Given the description of an element on the screen output the (x, y) to click on. 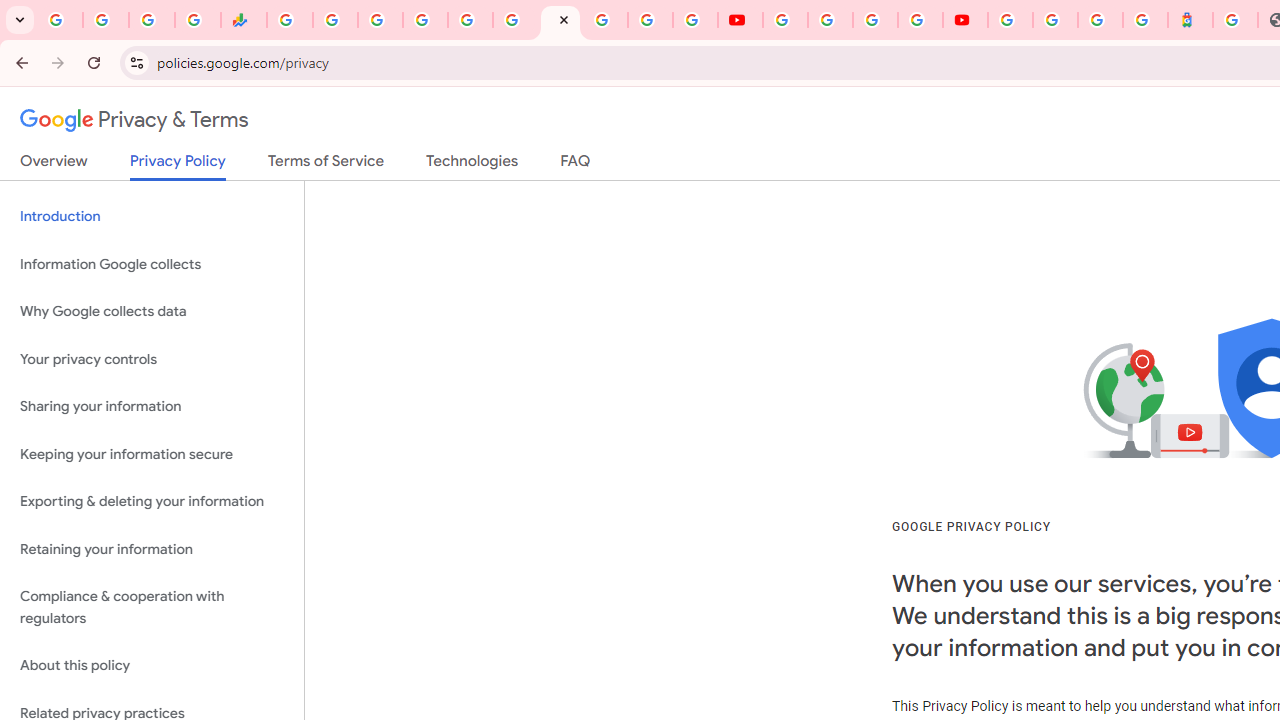
About this policy (152, 666)
Exporting & deleting your information (152, 502)
Why Google collects data (152, 312)
YouTube (740, 20)
Your privacy controls (152, 358)
Privacy Checkup (695, 20)
